Given the description of an element on the screen output the (x, y) to click on. 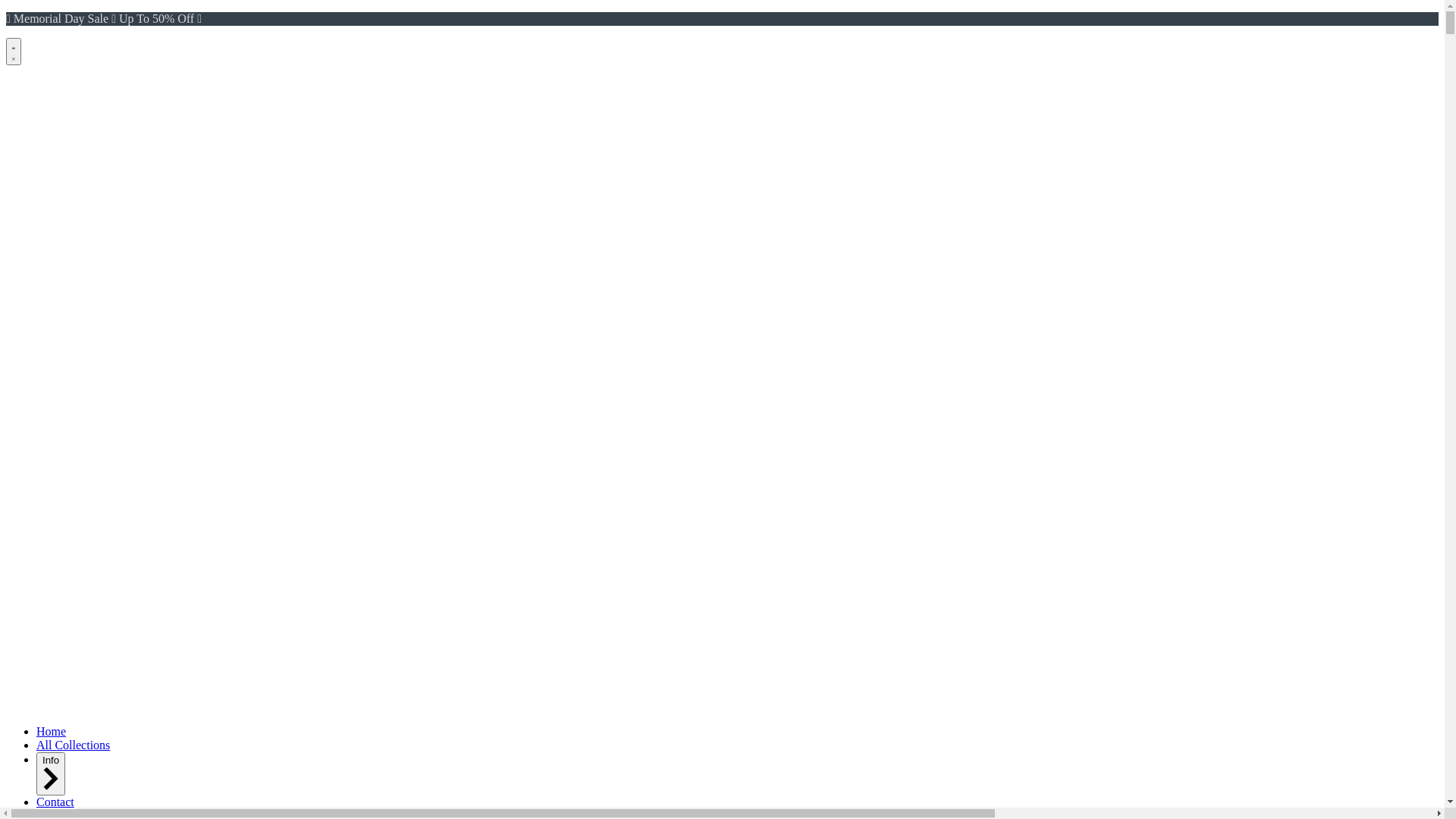
All Collections Element type: text (72, 744)
Home Element type: text (50, 730)
Contact Element type: text (55, 801)
Info Element type: text (50, 773)
